Given the description of an element on the screen output the (x, y) to click on. 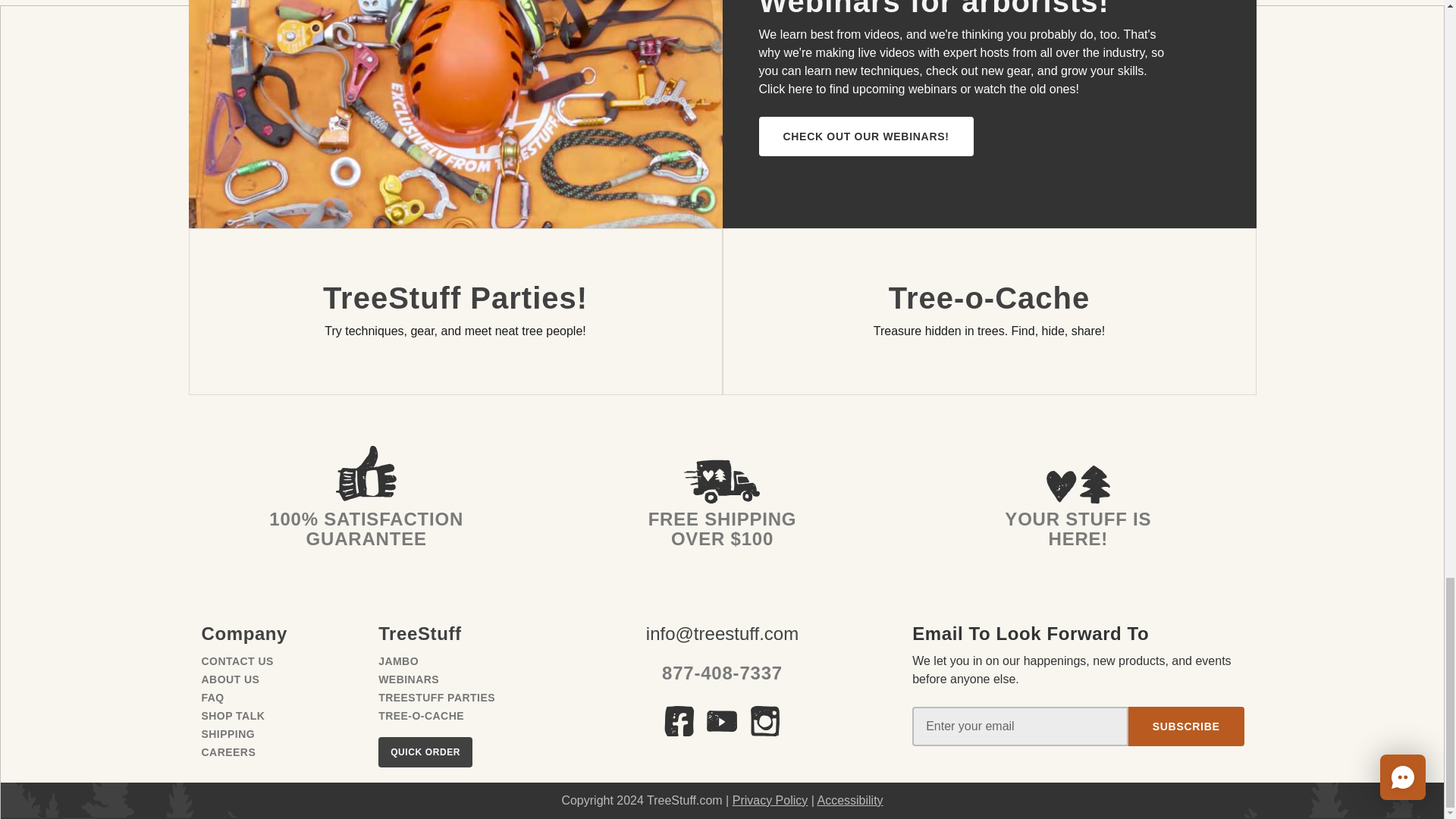
Subscribe (1186, 726)
